Given the description of an element on the screen output the (x, y) to click on. 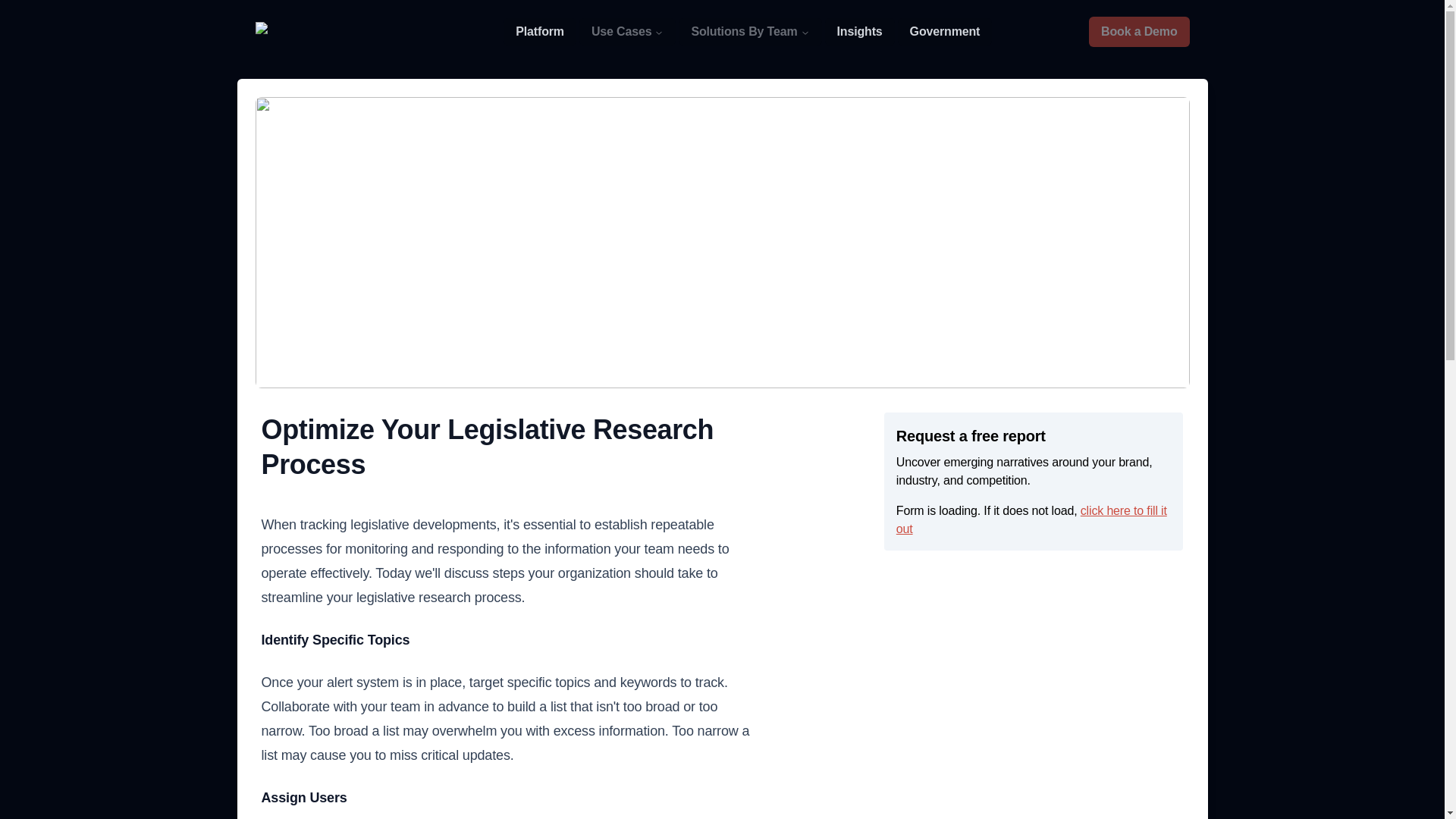
PeakMetrics (330, 31)
Solutions By Team (749, 31)
Platform (539, 31)
Book a Demo (1139, 31)
click here to fill it out (1031, 519)
Use Cases (628, 31)
Insights (860, 31)
Government (945, 31)
